Given the description of an element on the screen output the (x, y) to click on. 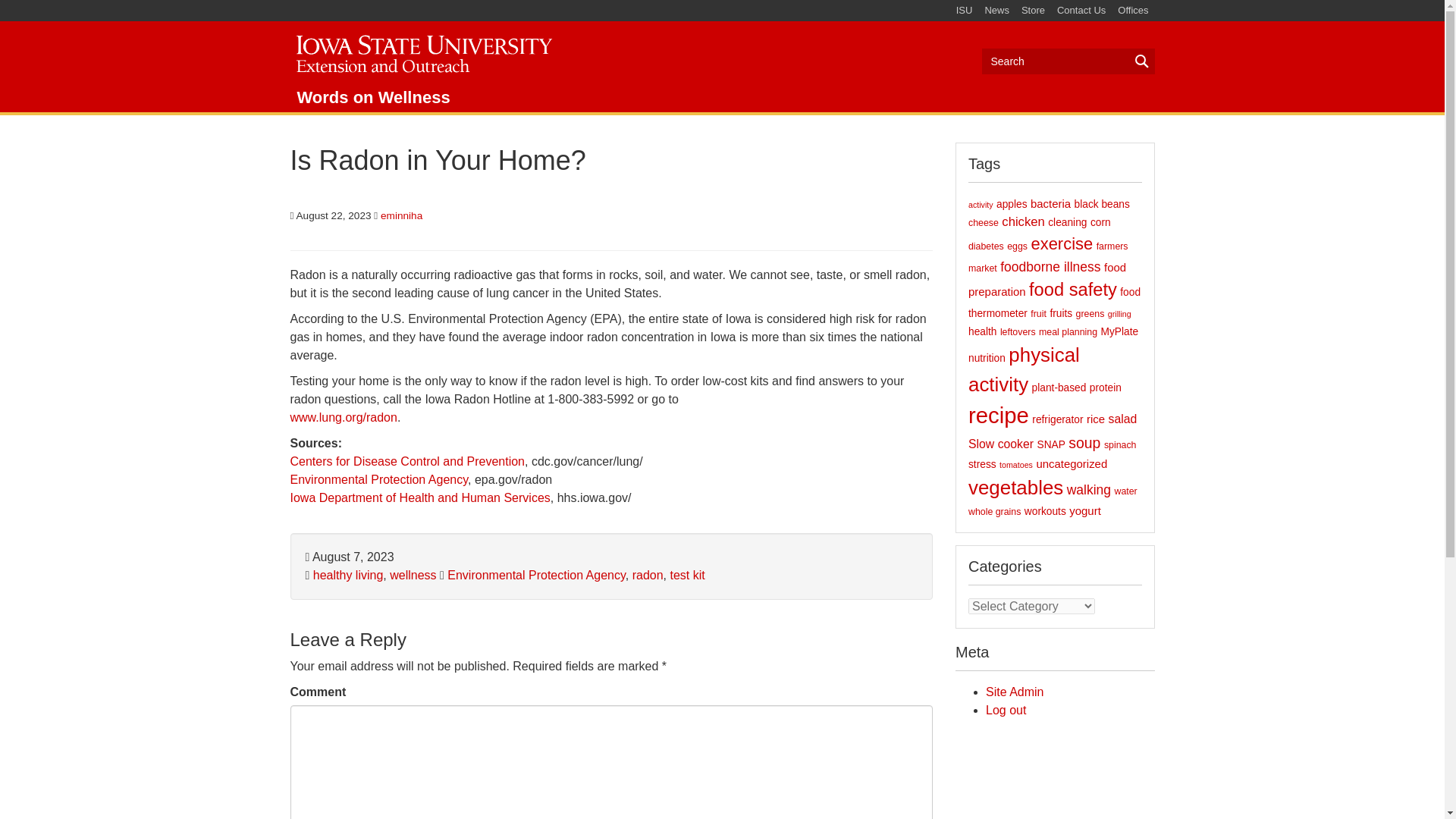
Last Updated (348, 556)
Contact Us (1081, 10)
Search (1067, 61)
eminniha (401, 215)
Posted On (330, 215)
ISU (964, 10)
News (996, 10)
Store (1032, 10)
Offices (1133, 10)
Iowa State University Extension and Outreach (421, 50)
Home (421, 50)
Words on Wellness (373, 97)
